Given the description of an element on the screen output the (x, y) to click on. 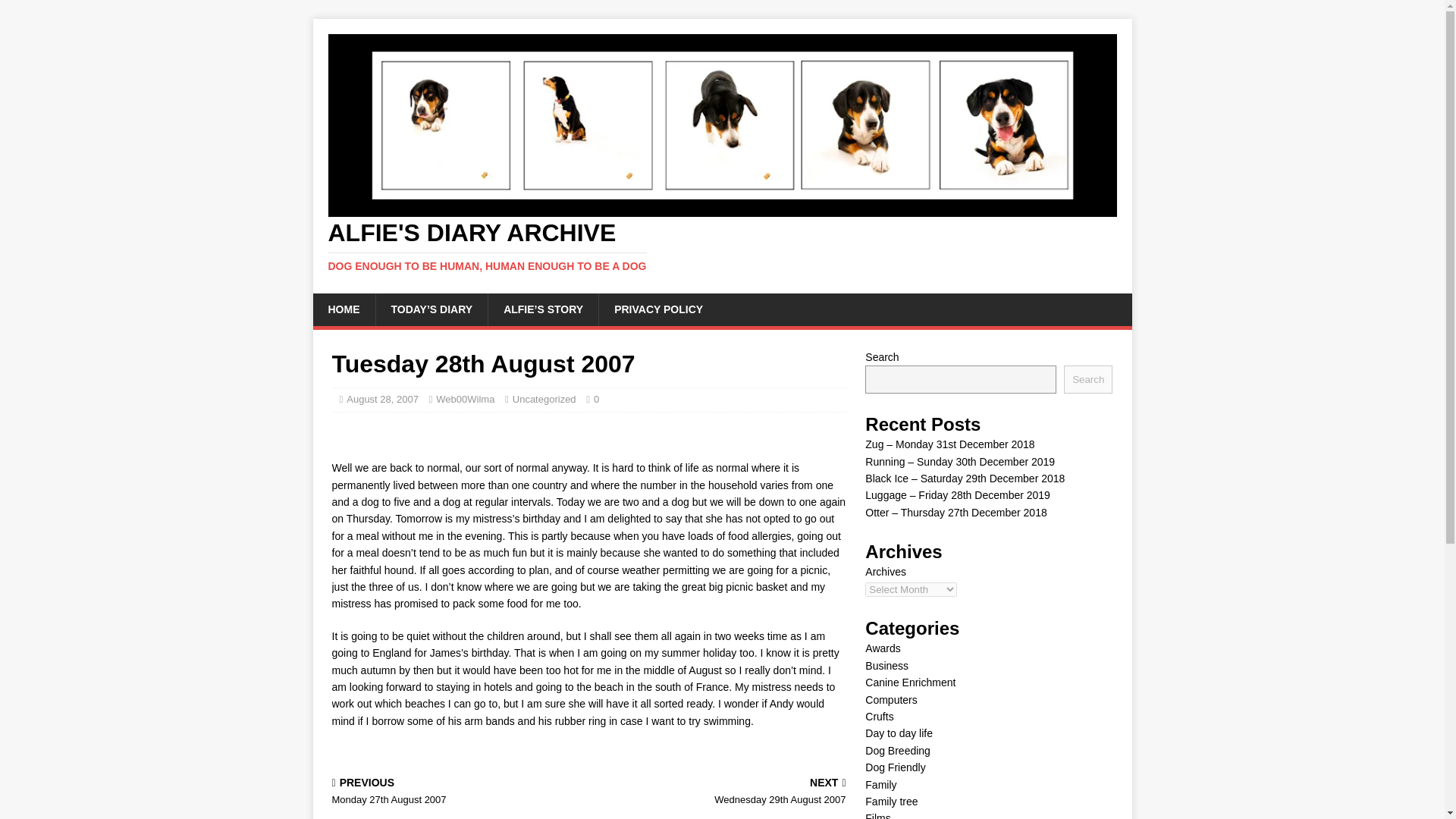
Business (457, 792)
Uncategorized (886, 665)
Dog Friendly (544, 398)
Films (894, 767)
Search (876, 815)
Day to day life (1088, 379)
HOME (898, 733)
Dog Breeding (343, 309)
